Given the description of an element on the screen output the (x, y) to click on. 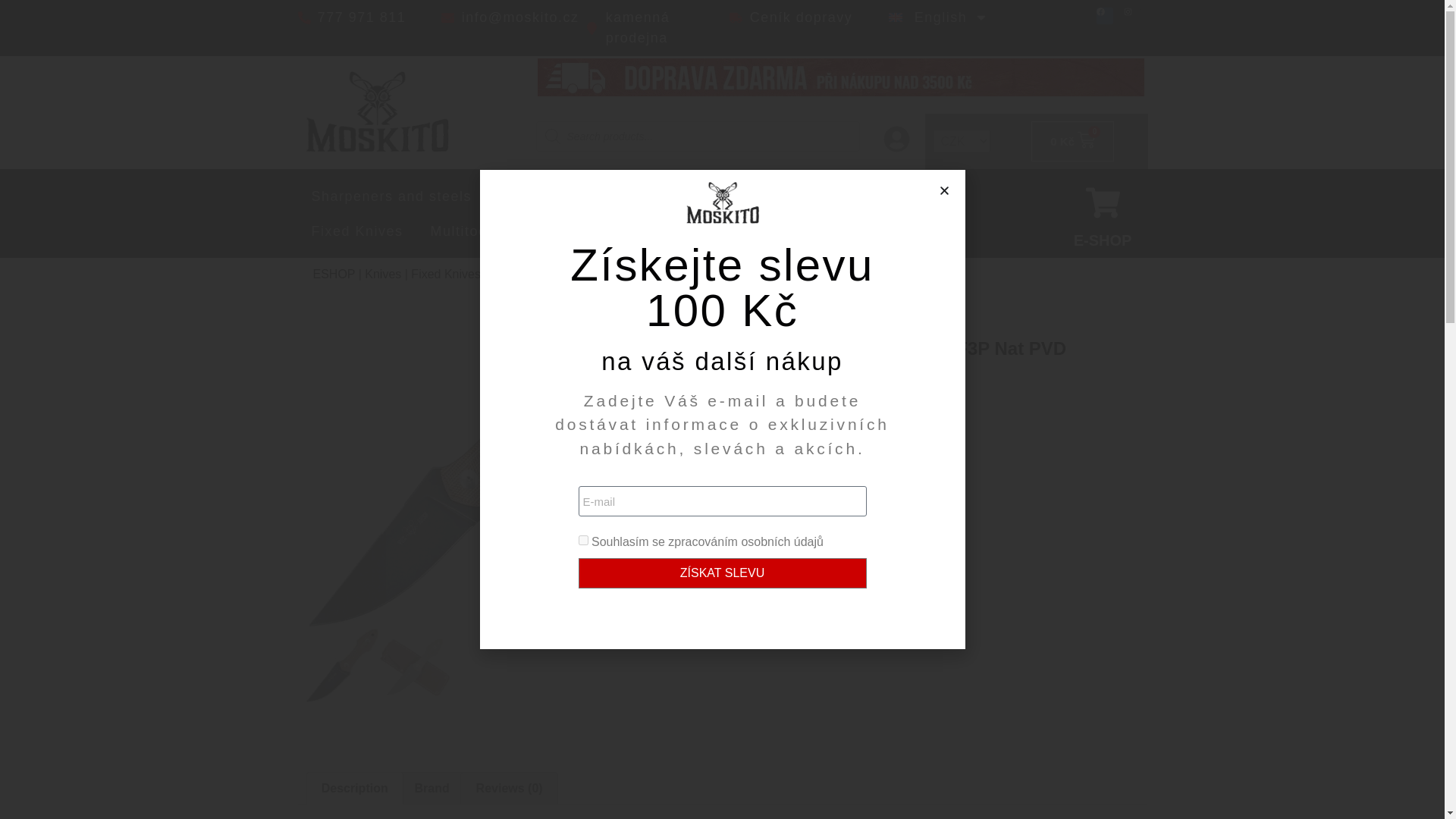
777 971 811 (361, 17)
on (583, 540)
English (938, 17)
1 (704, 526)
English (938, 17)
